Given the description of an element on the screen output the (x, y) to click on. 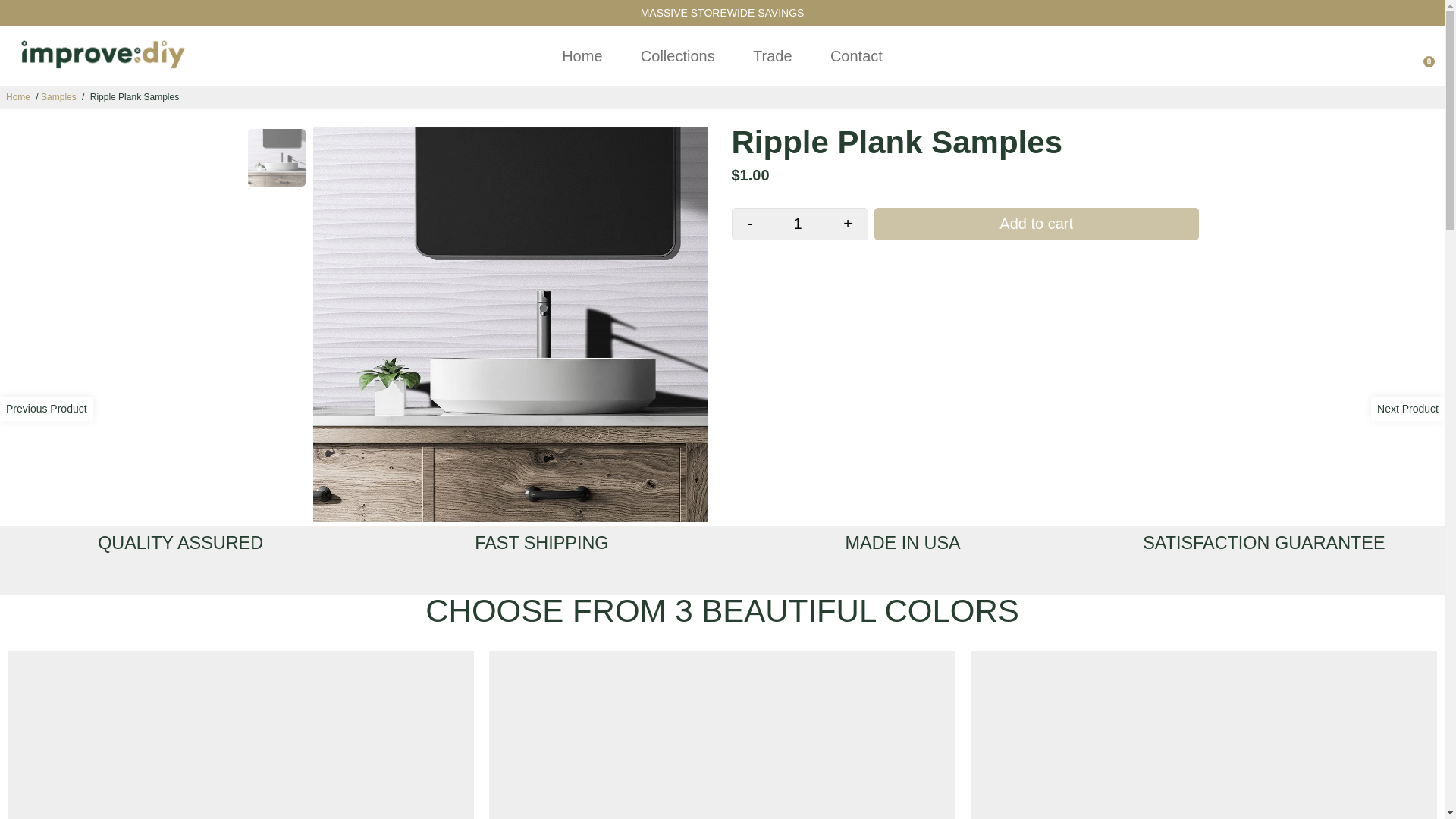
- (750, 223)
Previous Product (46, 408)
Samples (58, 96)
Contact (856, 55)
Trade (772, 55)
Add to cart (1036, 224)
Home (17, 96)
1 (797, 223)
Collections (678, 55)
Home (582, 55)
Home (17, 96)
